Given the description of an element on the screen output the (x, y) to click on. 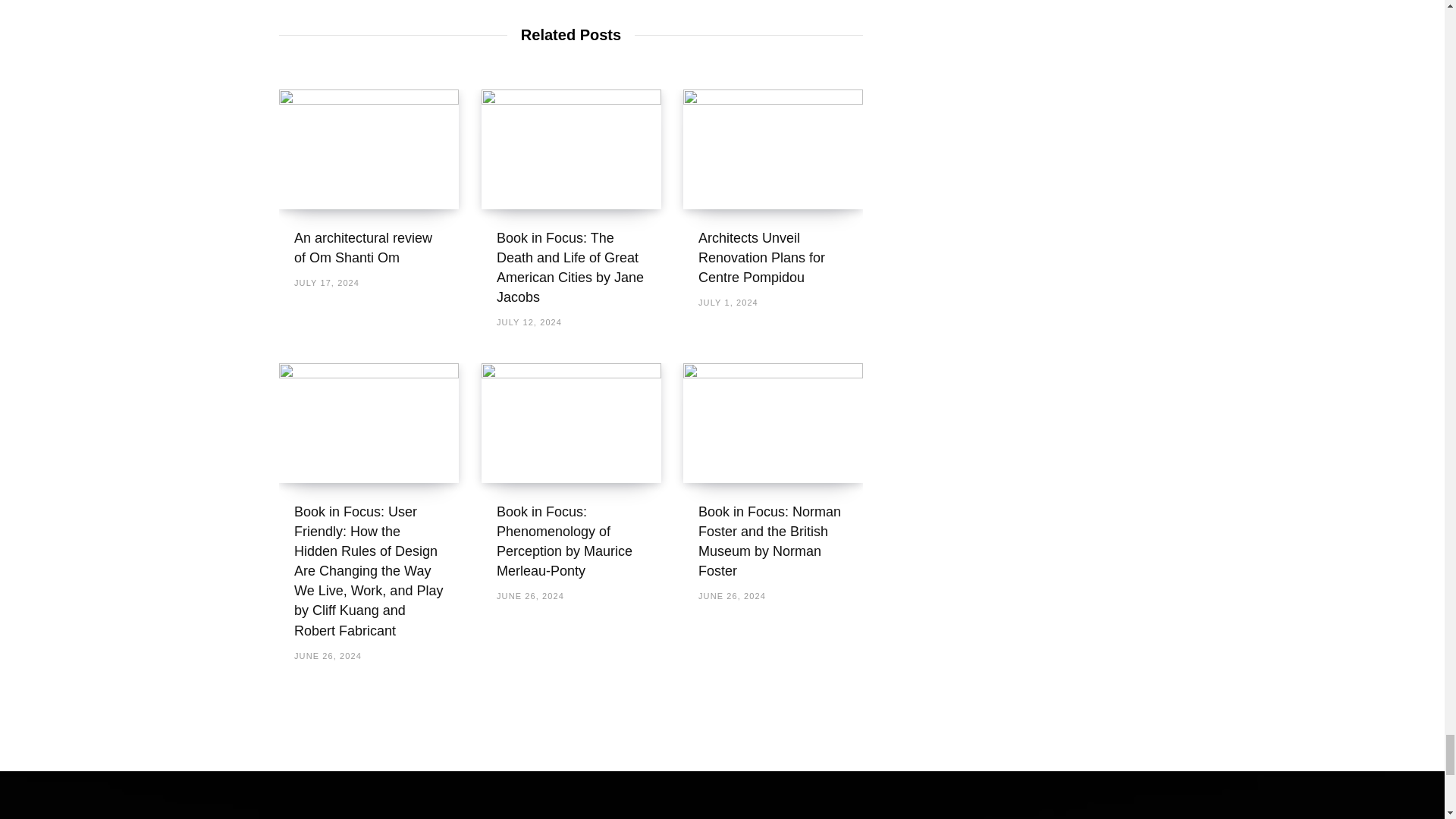
An architectural review of Om Shanti Om (368, 149)
